Given the description of an element on the screen output the (x, y) to click on. 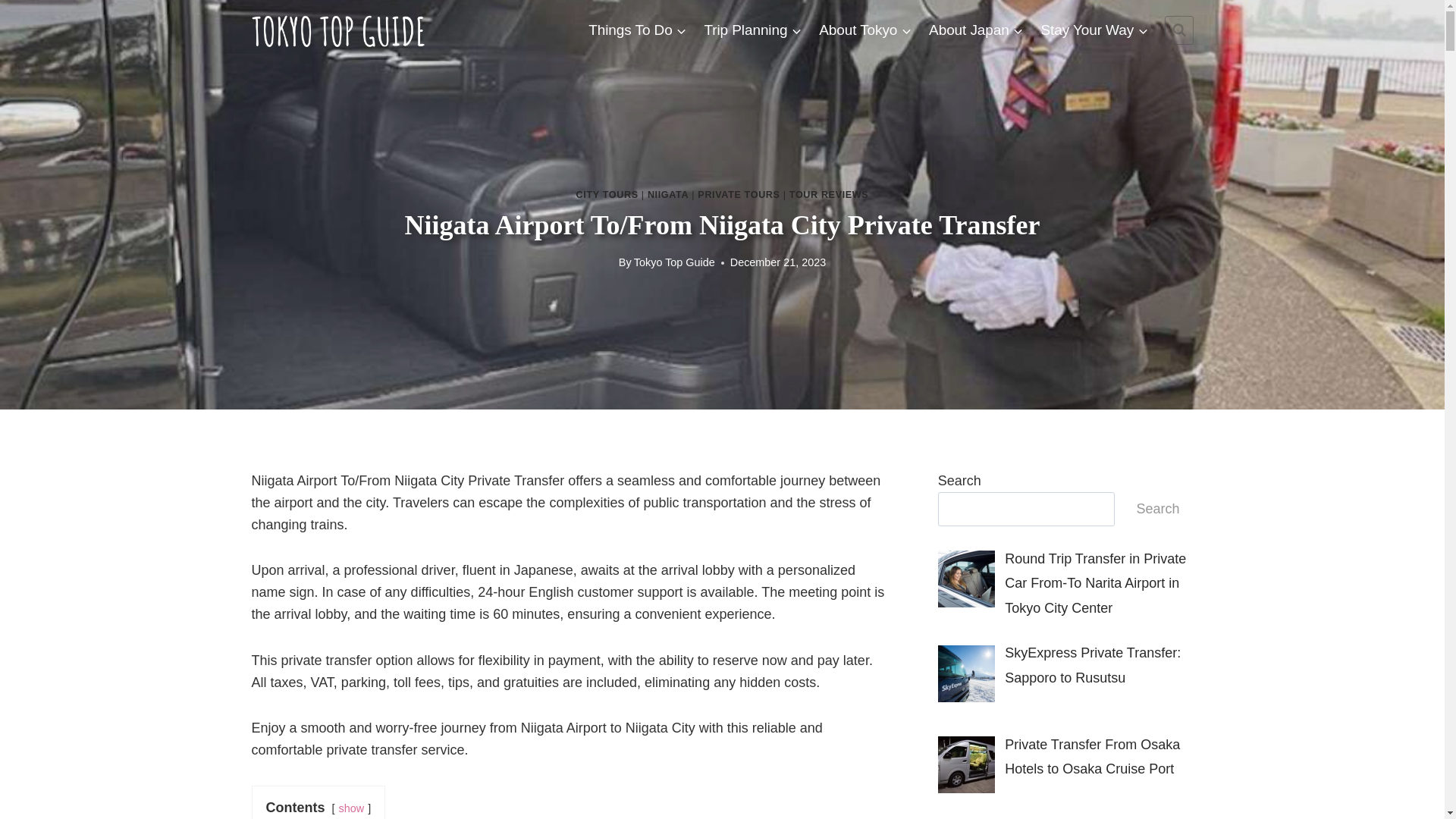
Things To Do (637, 29)
About Japan (976, 29)
CITY TOURS (607, 194)
Stay Your Way (1094, 29)
PRIVATE TOURS (737, 194)
About Tokyo (865, 29)
NIIGATA (667, 194)
Trip Planning (752, 29)
TOUR REVIEWS (829, 194)
